Given the description of an element on the screen output the (x, y) to click on. 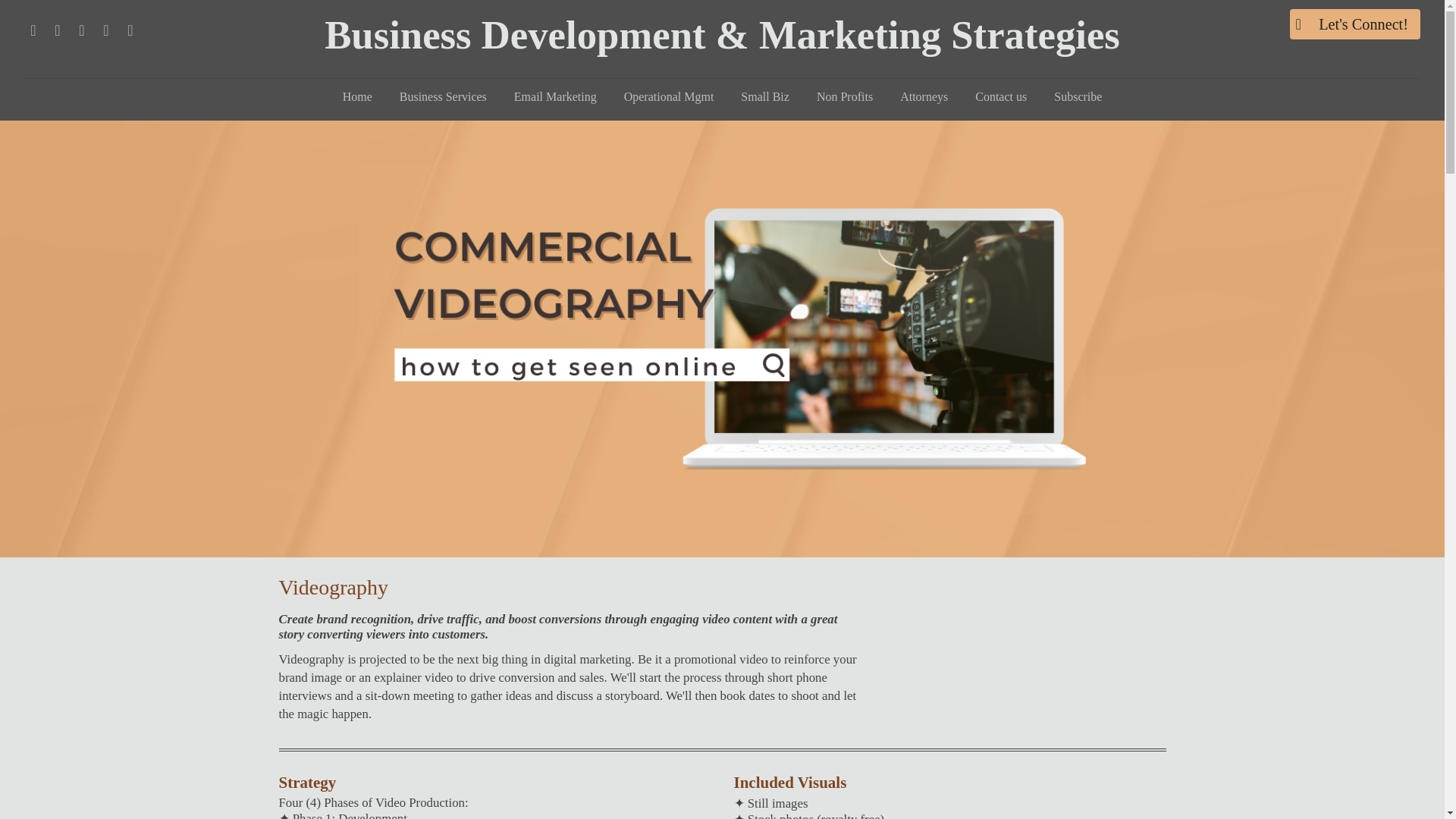
Subscribe (1077, 96)
   Let's Connect! (1355, 24)
Operational Mgmt (668, 96)
Home (357, 96)
Email Marketing (555, 96)
Attorneys (923, 96)
Small Biz (765, 96)
Non Profits (845, 96)
Business Services (443, 96)
Contact us (1000, 96)
